Given the description of an element on the screen output the (x, y) to click on. 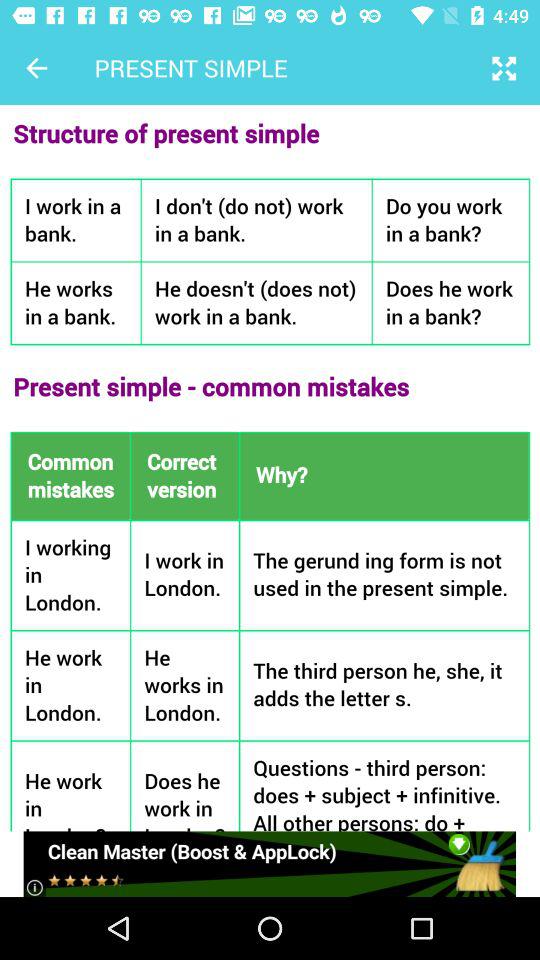
go back (36, 68)
